Given the description of an element on the screen output the (x, y) to click on. 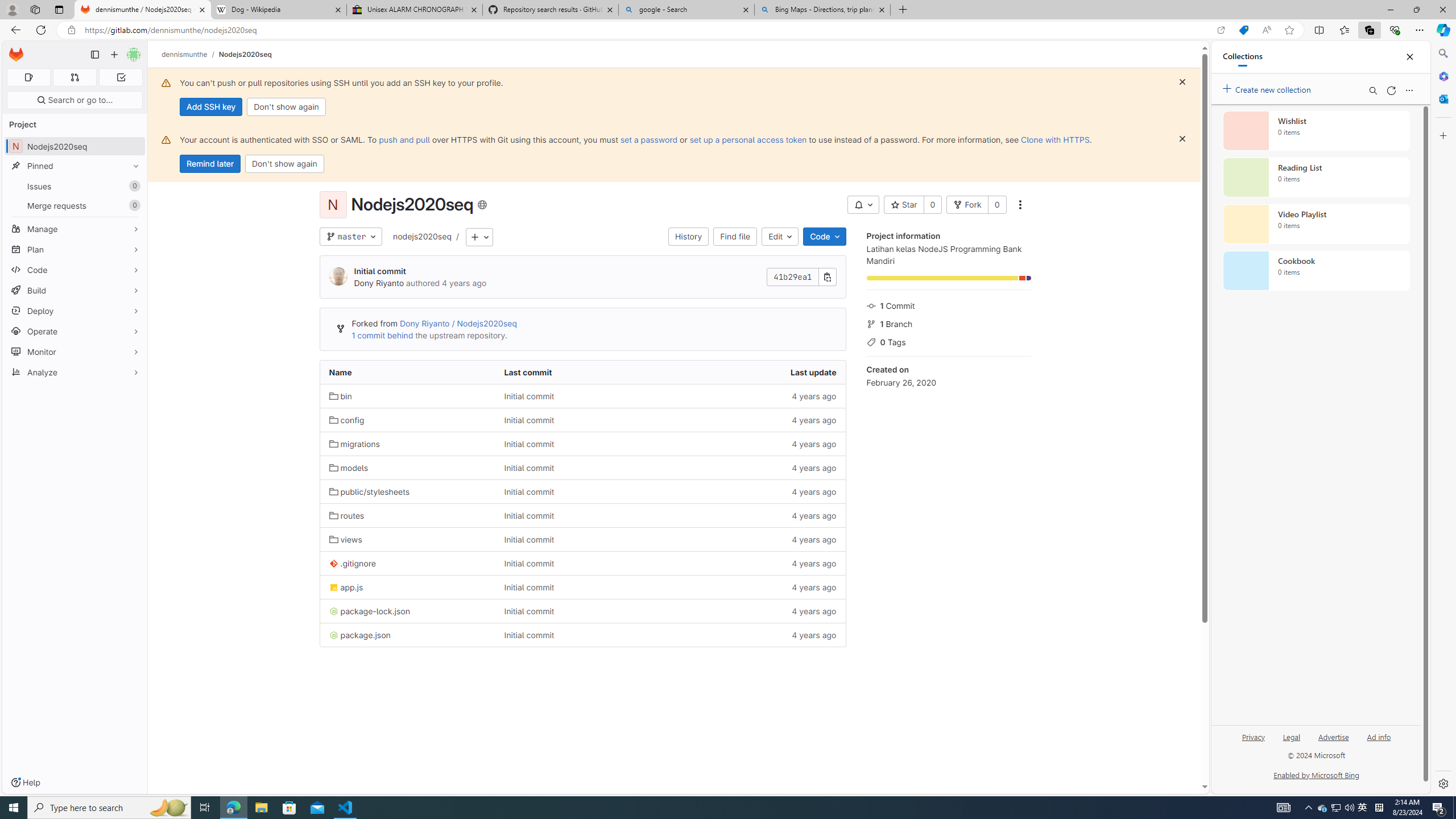
Issues 0 (74, 185)
Homepage (16, 54)
0 Tags (948, 340)
public/stylesheets (407, 491)
Deploy (74, 310)
Dony Riyanto (378, 283)
 Star (903, 204)
